Given the description of an element on the screen output the (x, y) to click on. 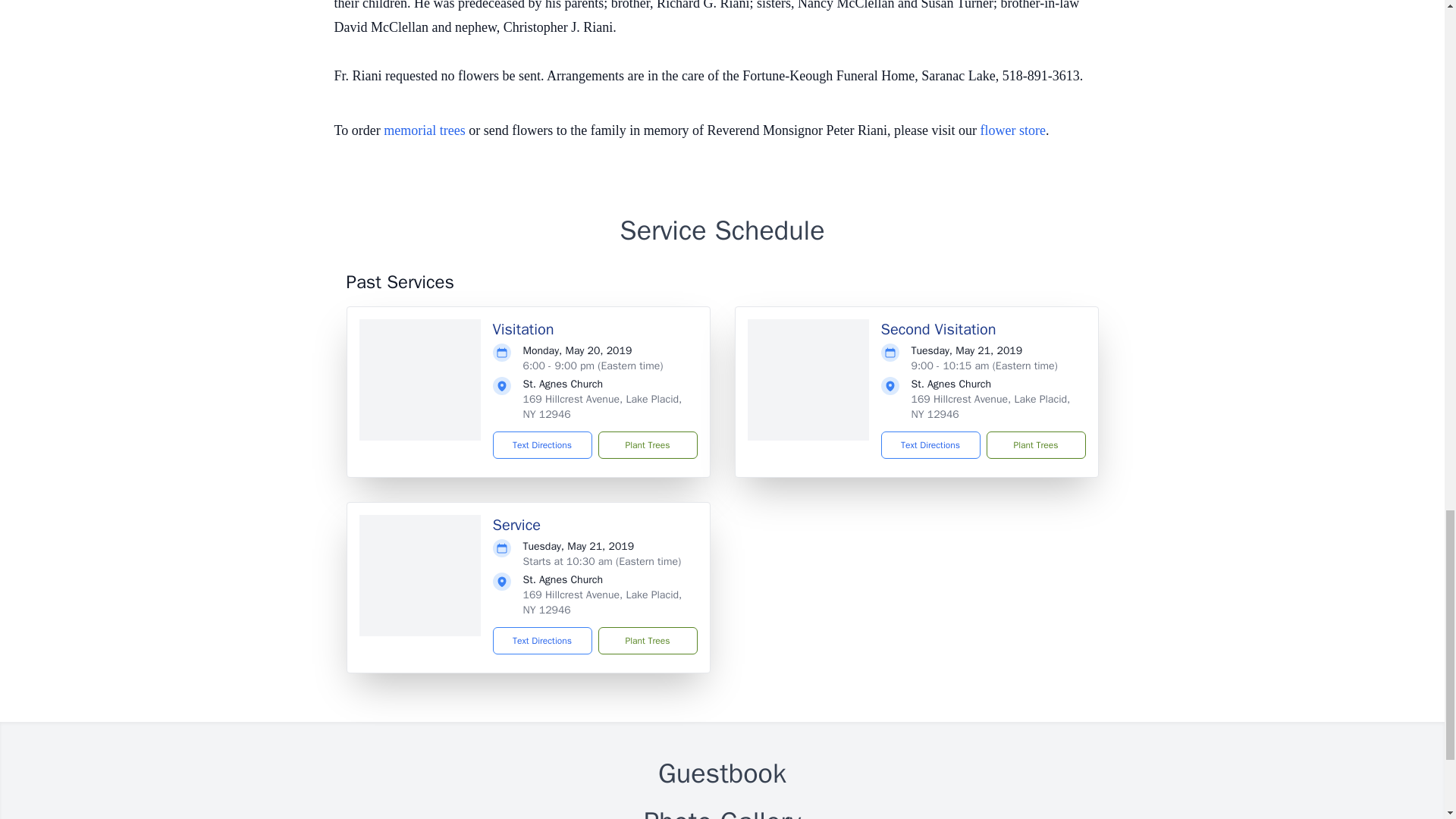
169 Hillcrest Avenue, Lake Placid, NY 12946 (602, 406)
memorial trees (424, 130)
Plant Trees (646, 444)
Text Directions (542, 444)
169 Hillcrest Avenue, Lake Placid, NY 12946 (990, 406)
Plant Trees (646, 640)
169 Hillcrest Avenue, Lake Placid, NY 12946 (602, 602)
Text Directions (929, 444)
Text Directions (542, 640)
Plant Trees (1034, 444)
